Given the description of an element on the screen output the (x, y) to click on. 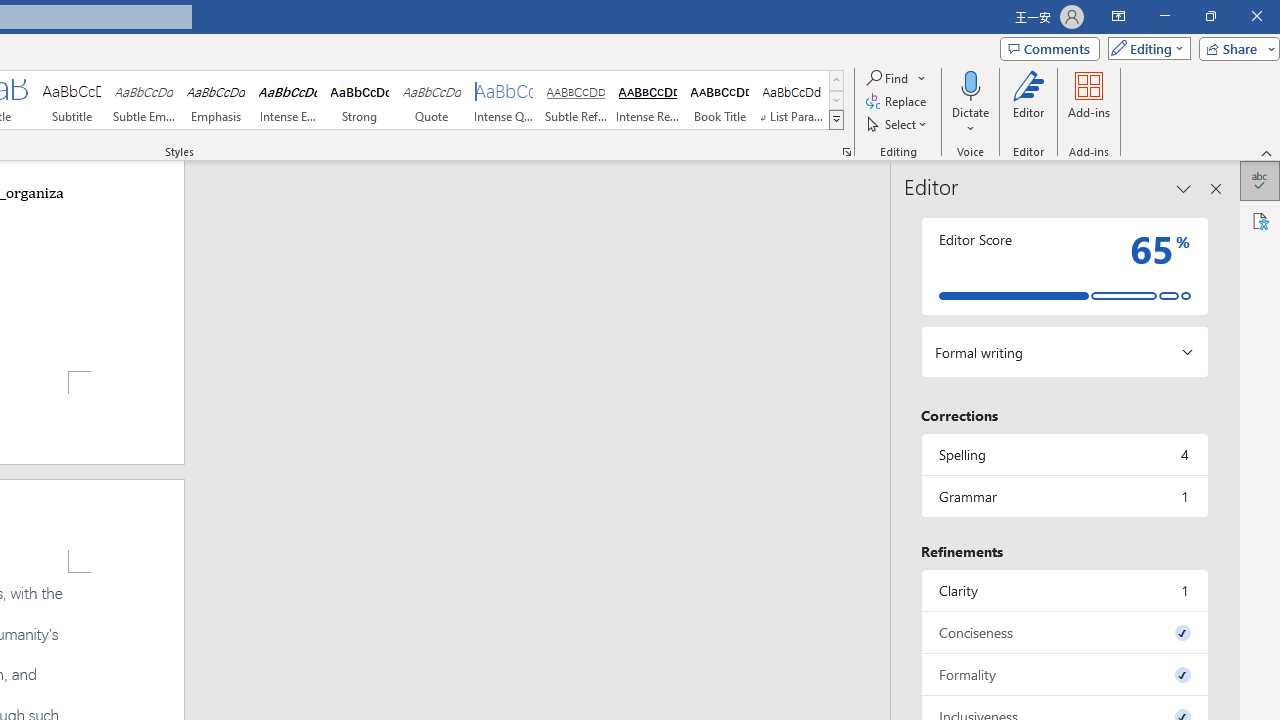
Conciseness, 0 issues. Press space or enter to review items. (1064, 632)
Restore Down (1210, 16)
Subtle Reference (575, 100)
Ribbon Display Options (1118, 16)
Collapse the Ribbon (1267, 152)
Formality, 0 issues. Press space or enter to review items. (1064, 673)
Styles (836, 120)
Emphasis (216, 100)
Close pane (1215, 188)
Styles... (846, 151)
Subtle Emphasis (143, 100)
Strong (359, 100)
Book Title (719, 100)
